Given the description of an element on the screen output the (x, y) to click on. 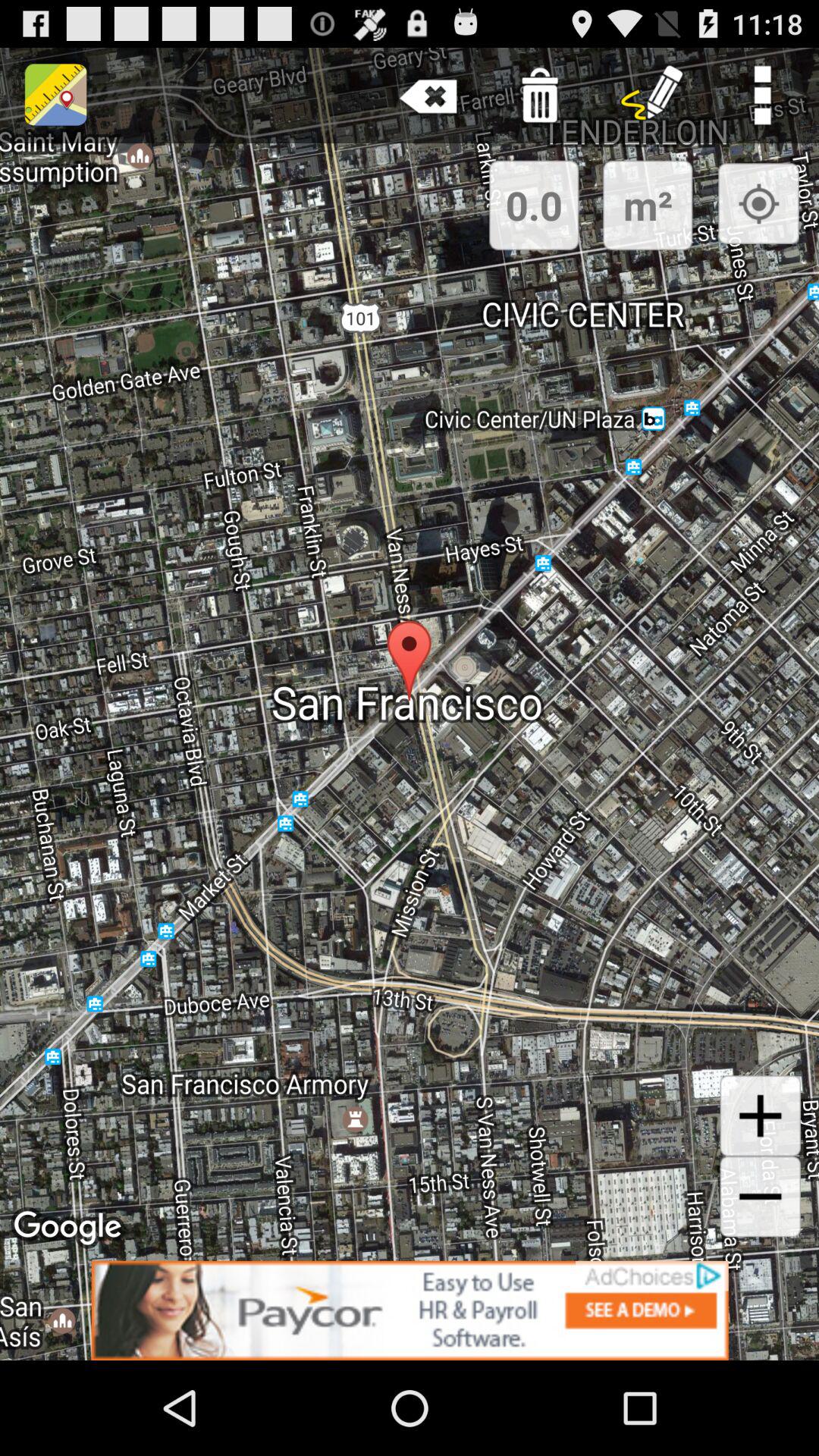
launch advertisement link (409, 1310)
